Given the description of an element on the screen output the (x, y) to click on. 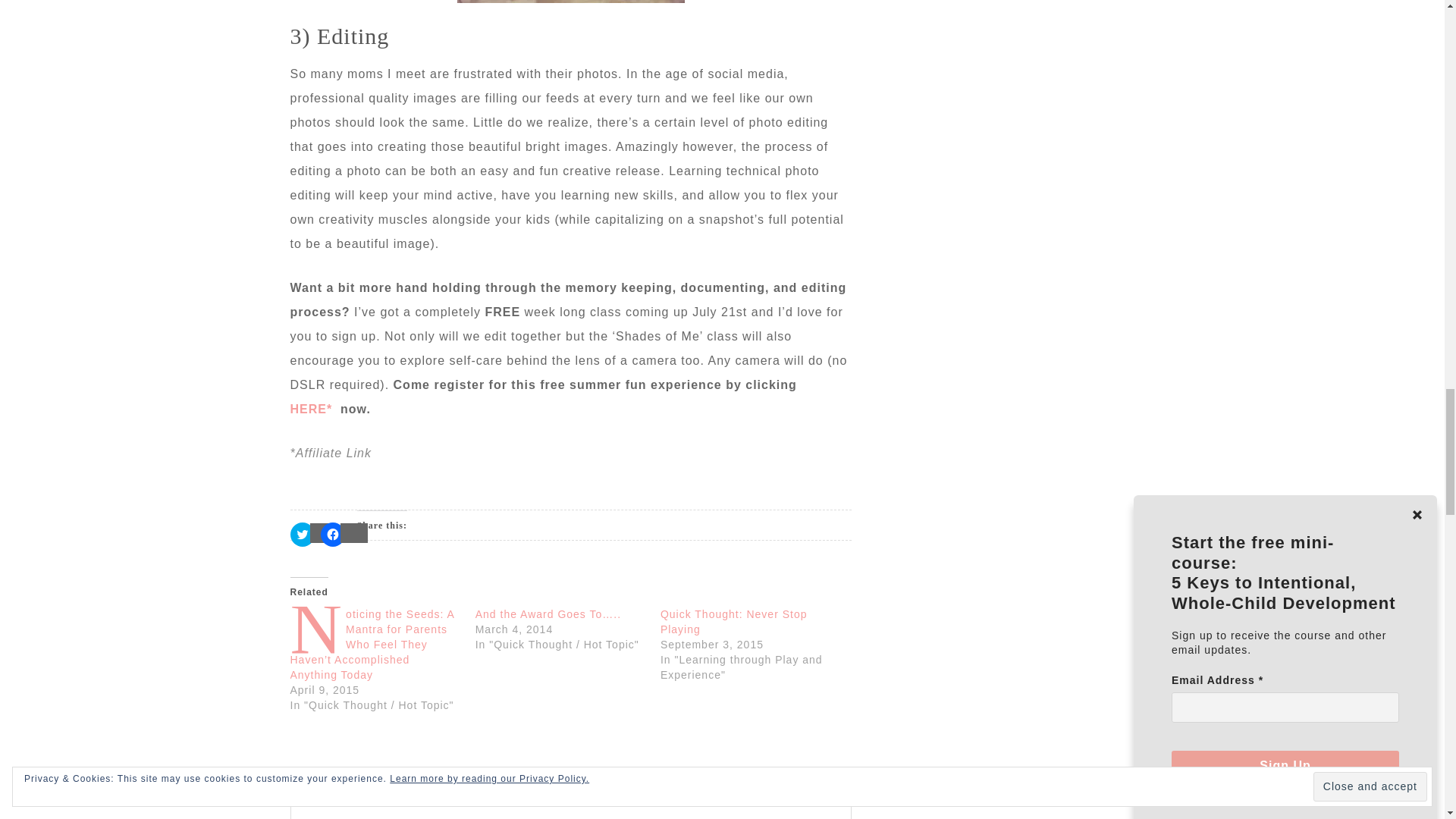
Click to share on Twitter (301, 534)
Quick Thought: Never Stop Playing (734, 621)
Click to share on Facebook (331, 534)
Quick Thought: Never Stop Playing (734, 621)
